Given the description of an element on the screen output the (x, y) to click on. 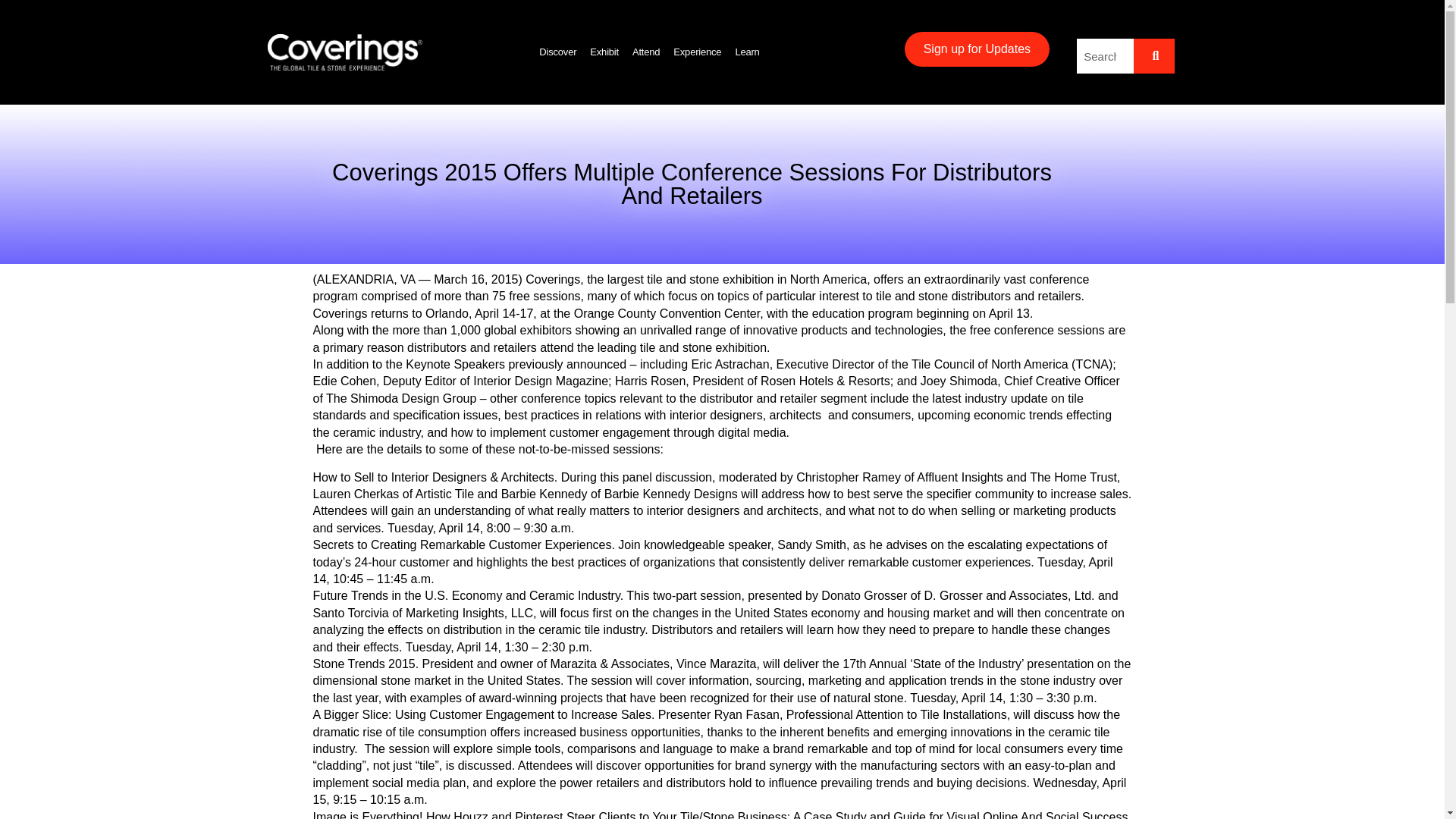
Experience (696, 51)
